Given the description of an element on the screen output the (x, y) to click on. 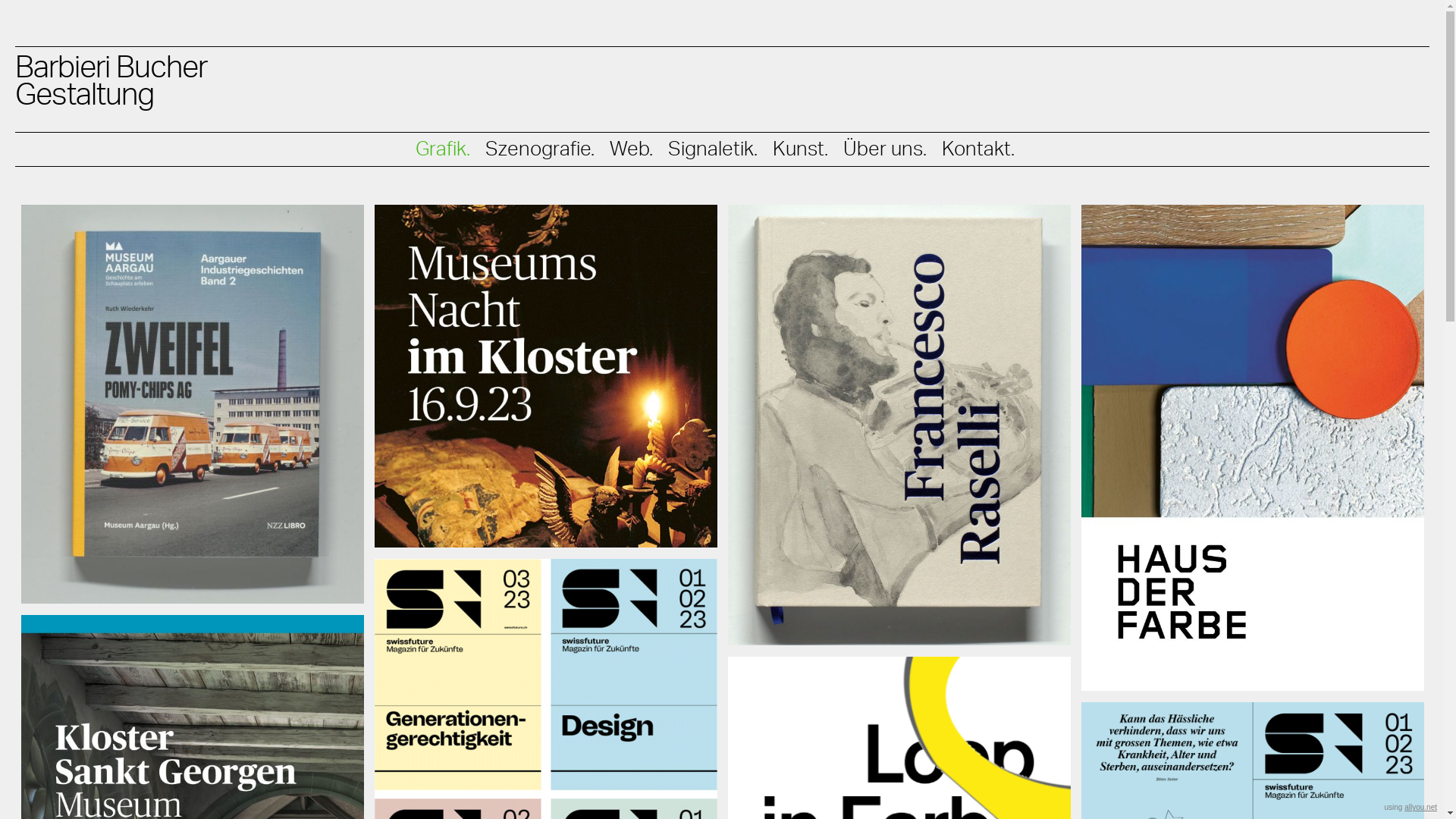
Web. Element type: text (630, 149)
Barbieri Bucher
Gestaltung Element type: text (722, 62)
Kunst. Element type: text (799, 149)
Szenografie. Element type: text (539, 149)
Signaletik. Element type: text (711, 149)
Kontakt. Element type: text (977, 149)
Grafik. Element type: text (442, 149)
allyou.net Element type: text (1420, 807)
